Given the description of an element on the screen output the (x, y) to click on. 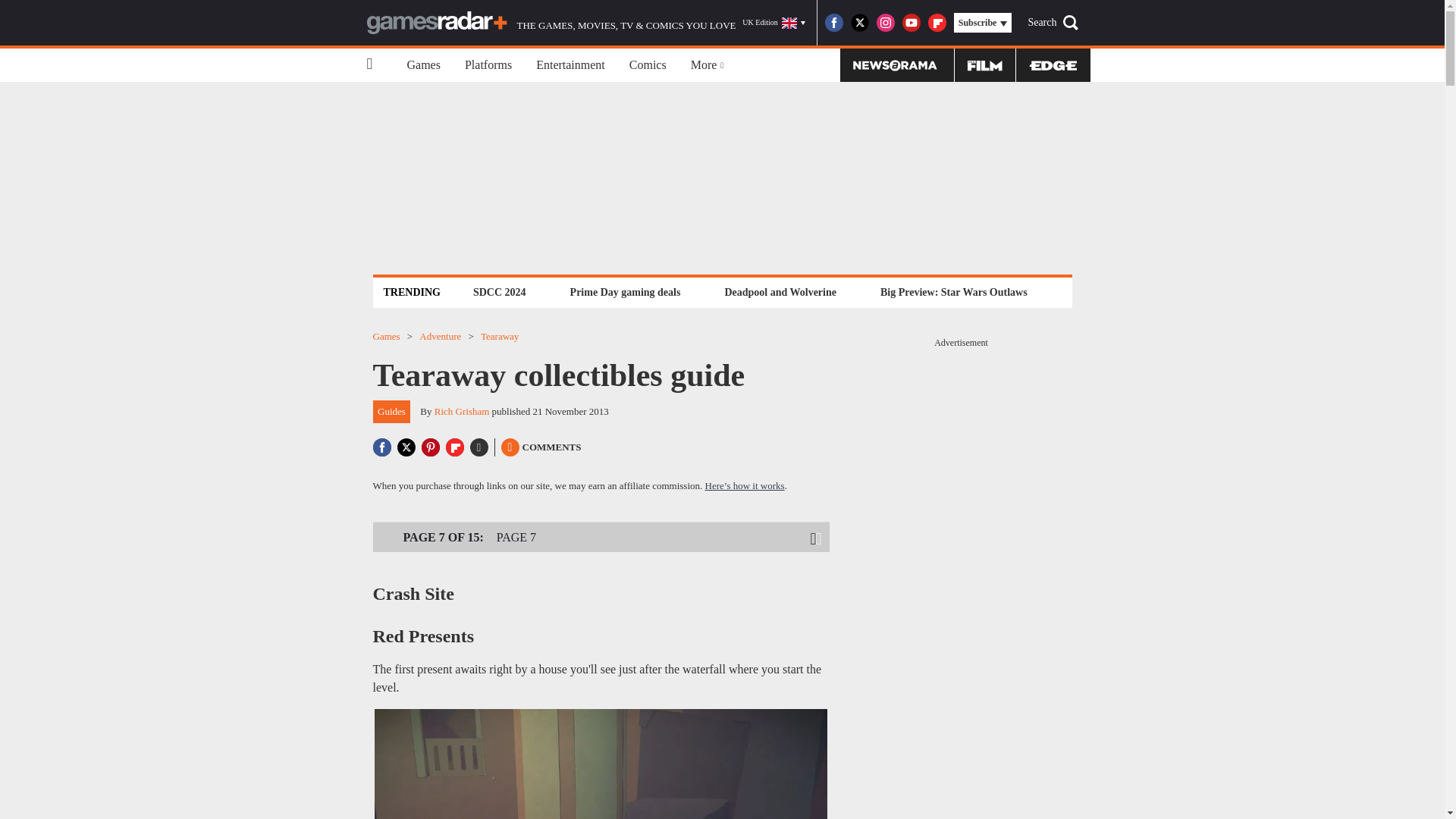
Platforms (488, 64)
Big Preview: Star Wars Outlaws (953, 292)
Entertainment (570, 64)
Prime Day gaming deals (624, 292)
Comics (647, 64)
UK Edition (773, 22)
Games (422, 64)
Deadpool and Wolverine (780, 292)
SDCC 2024 (499, 292)
